Given the description of an element on the screen output the (x, y) to click on. 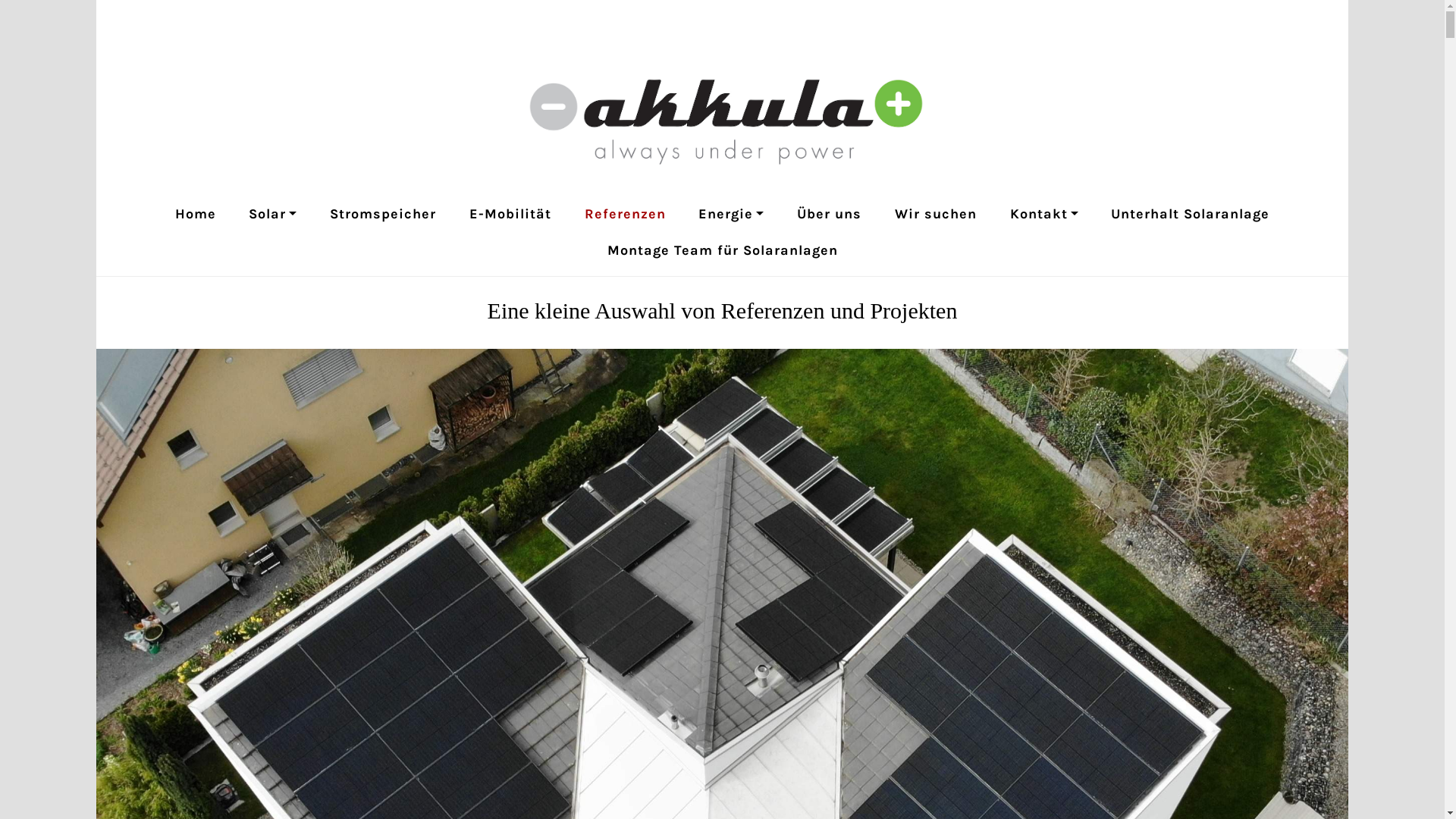
Referenzen Element type: text (624, 213)
Wir suchen Element type: text (935, 213)
Unterhalt Solaranlage Element type: text (1189, 213)
Stromspeicher Element type: text (382, 213)
Home Element type: text (195, 213)
